Given the description of an element on the screen output the (x, y) to click on. 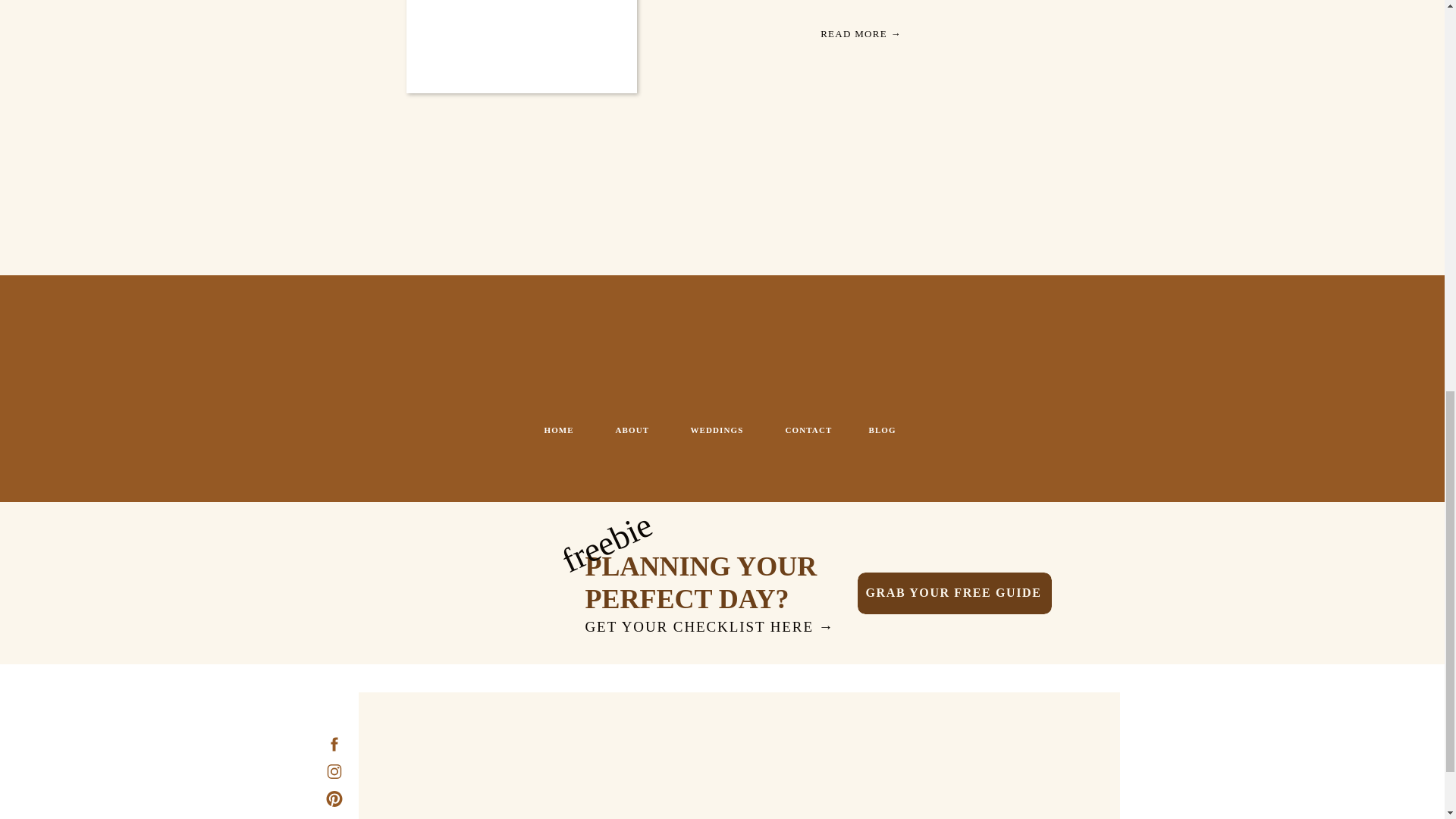
CONTACT (810, 432)
BLOG (885, 432)
ABOUT (635, 432)
Small Town, Big Hearts (860, 33)
HOME (563, 432)
GRAB YOUR FREE GUIDE (954, 592)
WEDDINGS (726, 432)
